Given the description of an element on the screen output the (x, y) to click on. 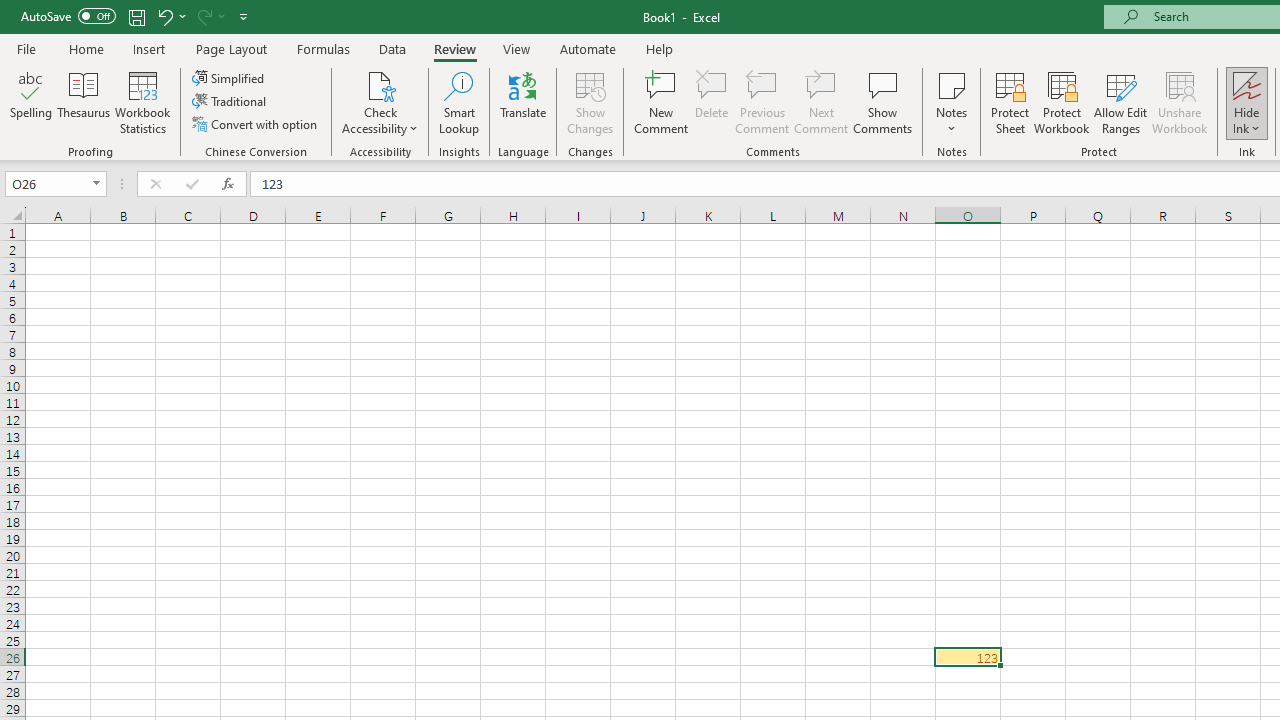
Next Comment (821, 102)
Unshare Workbook (1179, 102)
Spelling... (31, 102)
Protect Workbook... (1061, 102)
Translate (523, 102)
Convert with option (256, 124)
